Given the description of an element on the screen output the (x, y) to click on. 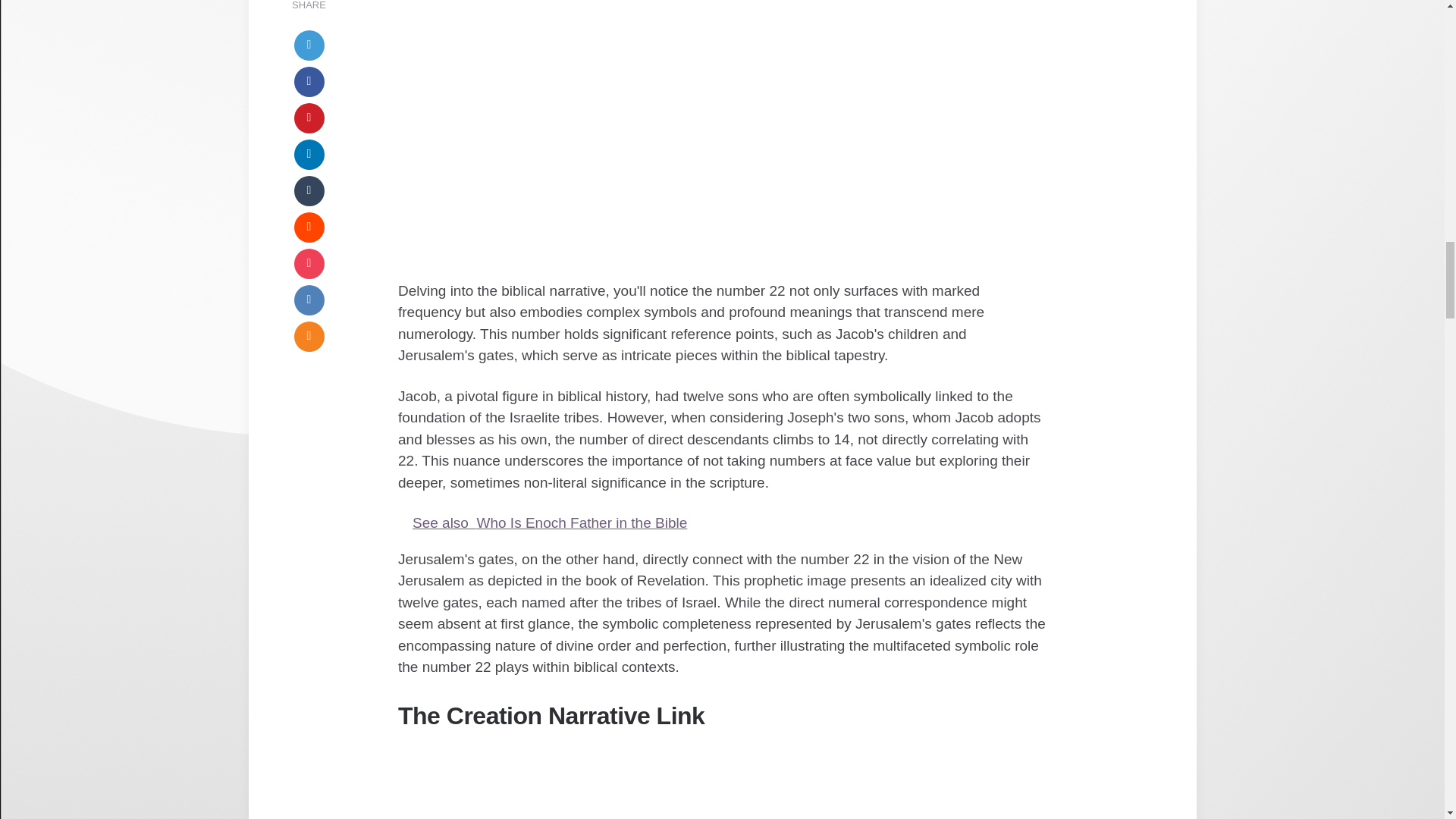
See also  Who Is Enoch Father in the Bible (721, 523)
